Given the description of an element on the screen output the (x, y) to click on. 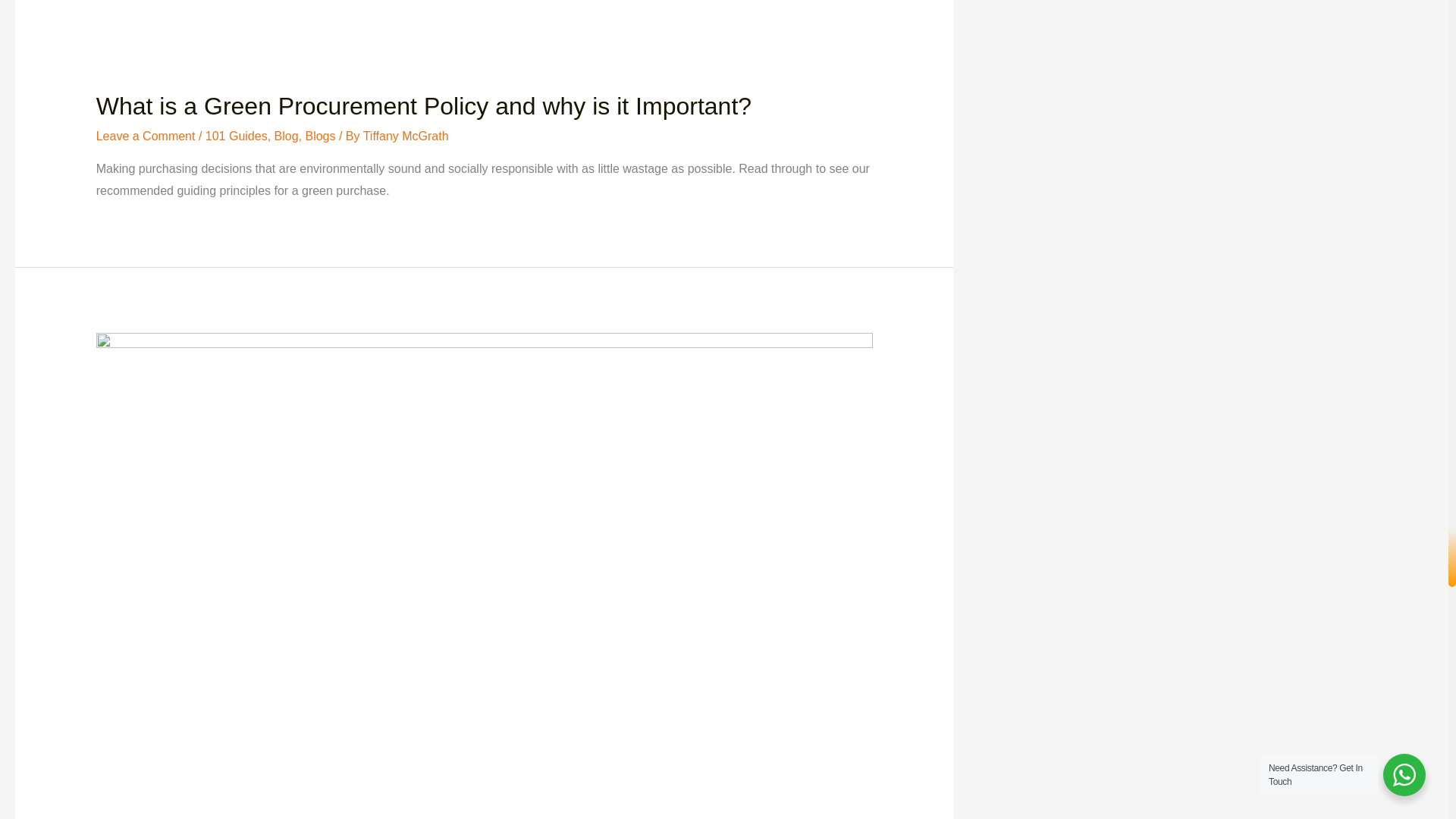
View all posts by Tiffany McGrath (405, 135)
